Given the description of an element on the screen output the (x, y) to click on. 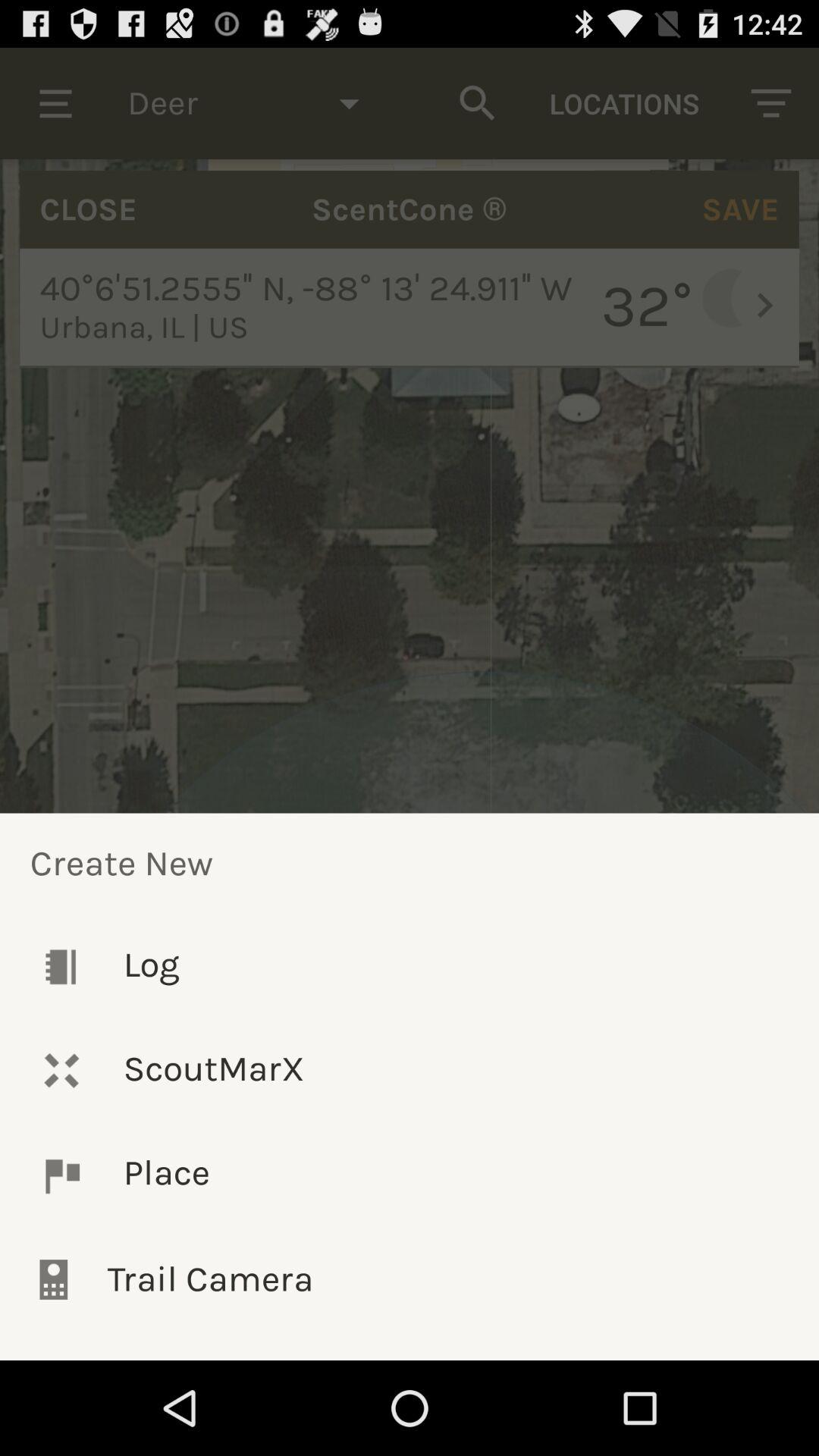
turn off item below place icon (409, 1279)
